Given the description of an element on the screen output the (x, y) to click on. 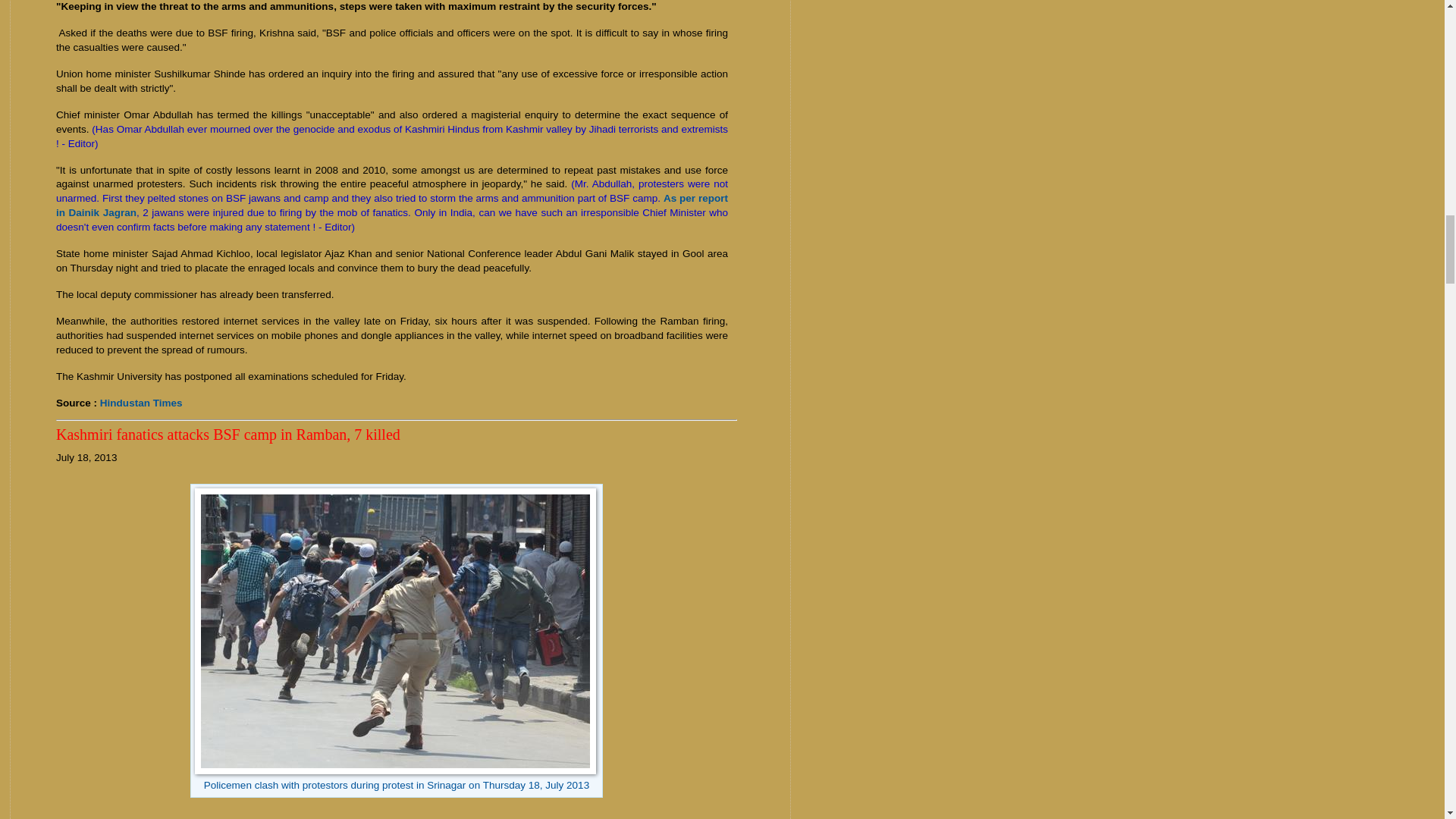
Hindustan Times (141, 402)
As per report in Dainik Jagran (392, 205)
